Given the description of an element on the screen output the (x, y) to click on. 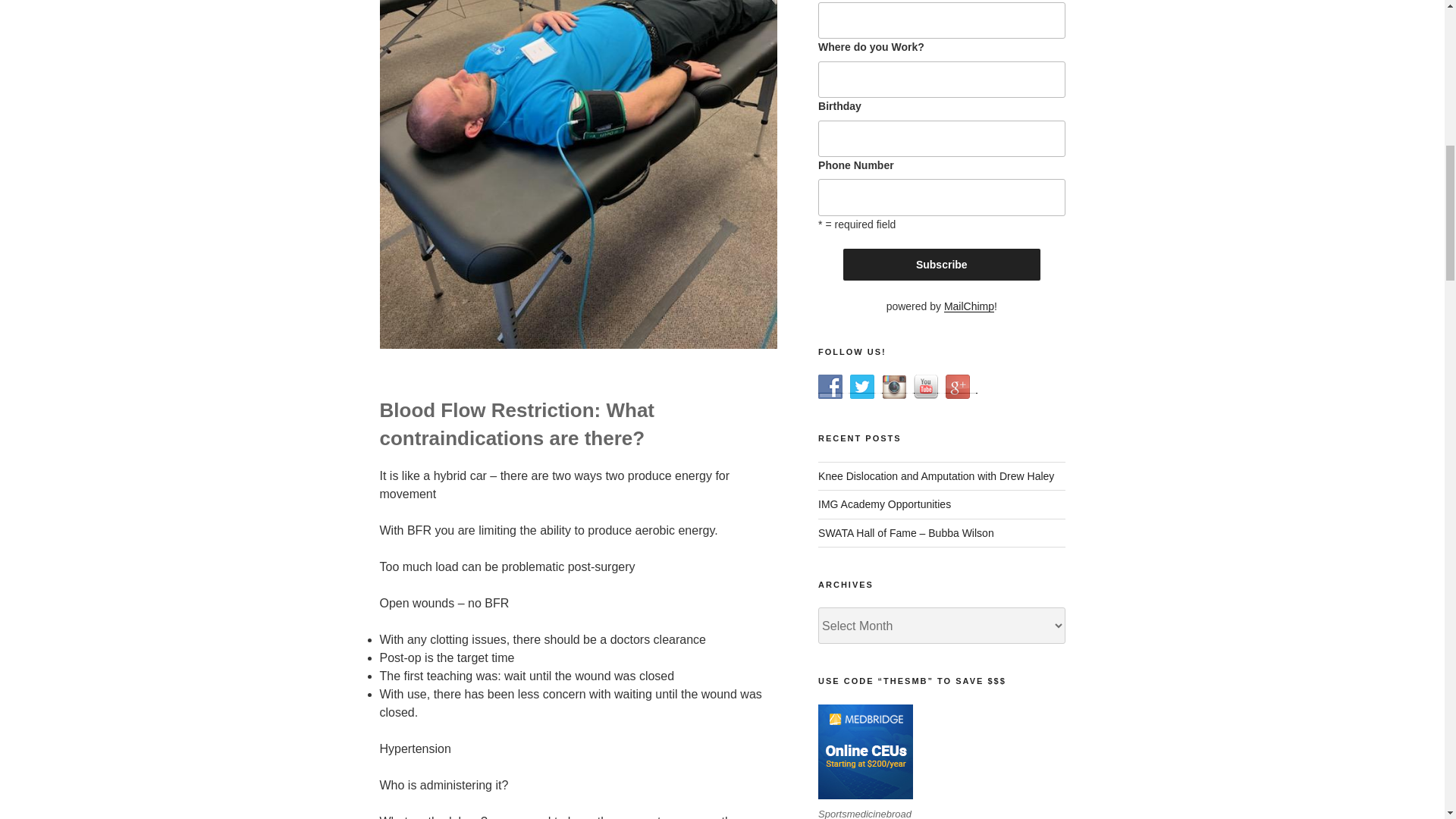
Sports Medicine Broadcast (893, 386)
Subscribe (942, 264)
Sports Medicine Broadcast (830, 386)
